Given the description of an element on the screen output the (x, y) to click on. 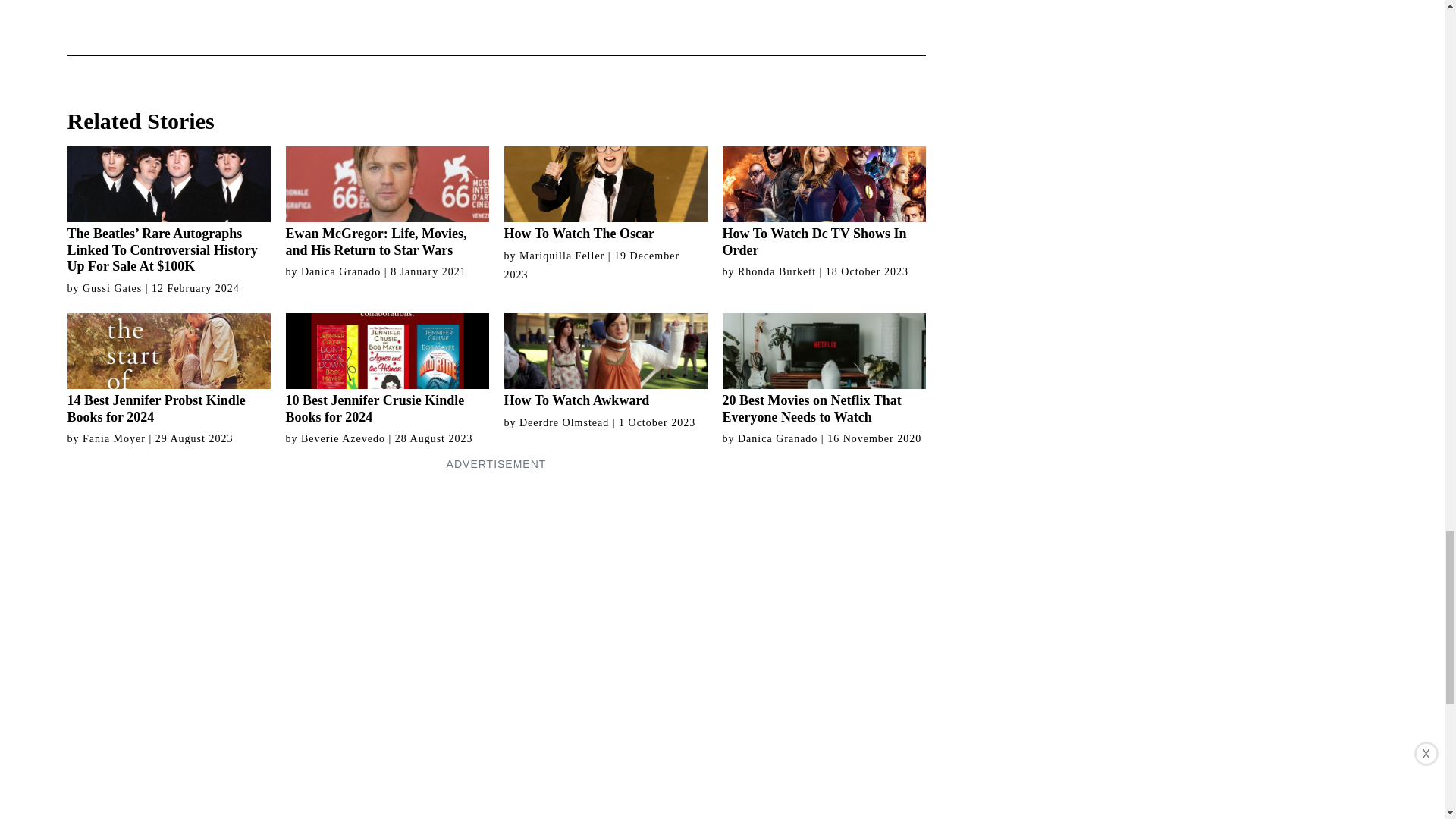
How To Watch The Oscar (604, 194)
14 Best Jennifer Probst Kindle Books for 2024 (167, 368)
14 Best Jennifer Probst Kindle Books for 2024 (167, 368)
How To Watch Dc TV Shows In Order (823, 202)
10 Best Jennifer Crusie Kindle Books for 2024 (386, 368)
20 Best Movies on Netflix That Everyone Needs to Watch (823, 368)
How To Watch Dc TV Shows In Order (823, 202)
How To Watch The Oscar (604, 194)
How To Watch Awkward (604, 360)
